Given the description of an element on the screen output the (x, y) to click on. 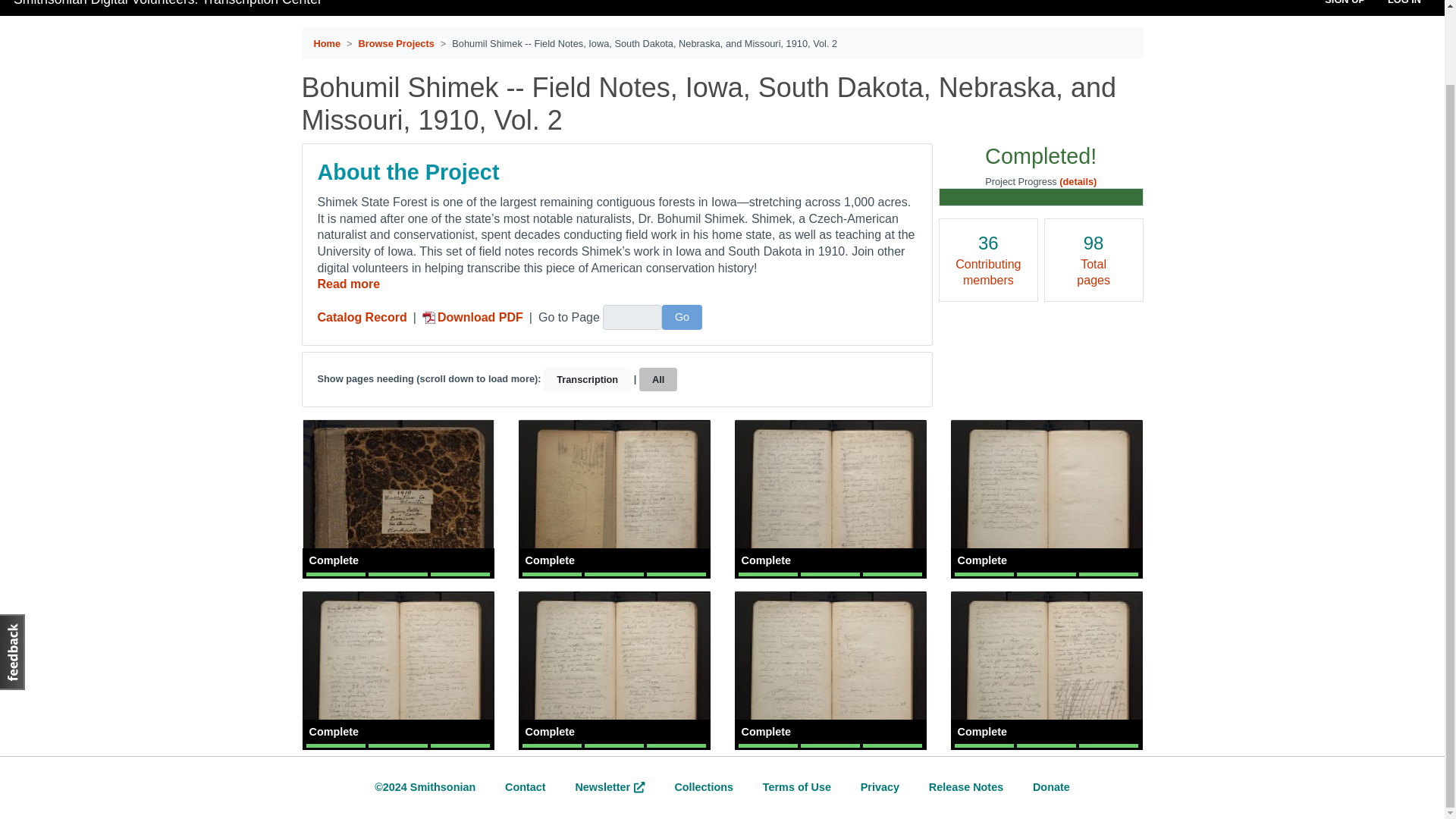
LOG IN (1403, 2)
View SIA-SIA2017-002163 (1046, 669)
Go (681, 317)
Download PDF (472, 317)
Read more (348, 283)
SIGN UP (1344, 2)
Complete (1046, 669)
Go (681, 317)
Complete (830, 669)
All (658, 379)
View SIA-SIA2017-002160 (398, 669)
View SIA-SIA2017-002158 (830, 498)
